Given the description of an element on the screen output the (x, y) to click on. 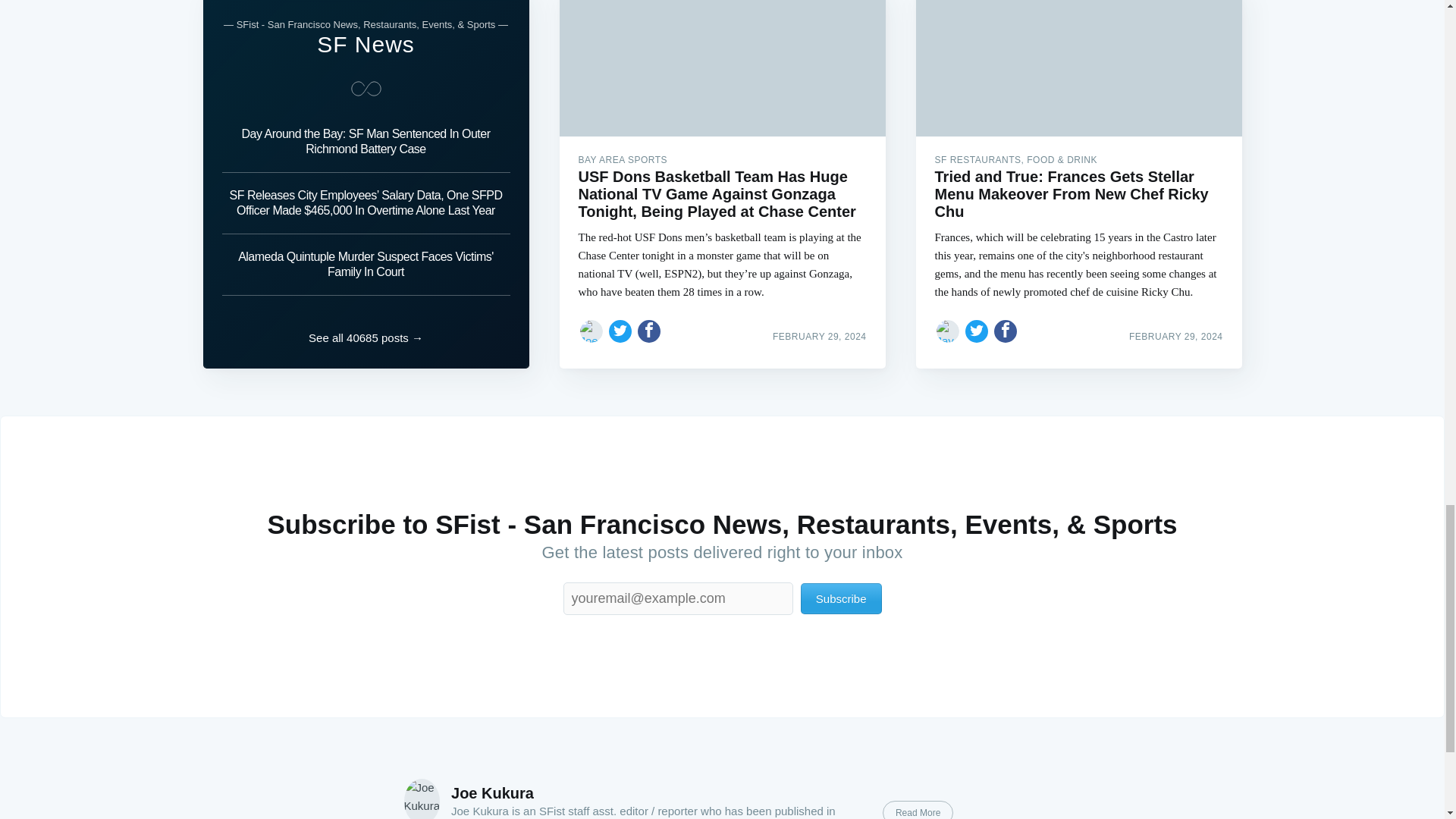
Share on Facebook (1004, 330)
SF News (365, 43)
Share on Twitter (976, 330)
Share on Twitter (620, 330)
Share on Facebook (649, 330)
